Given the description of an element on the screen output the (x, y) to click on. 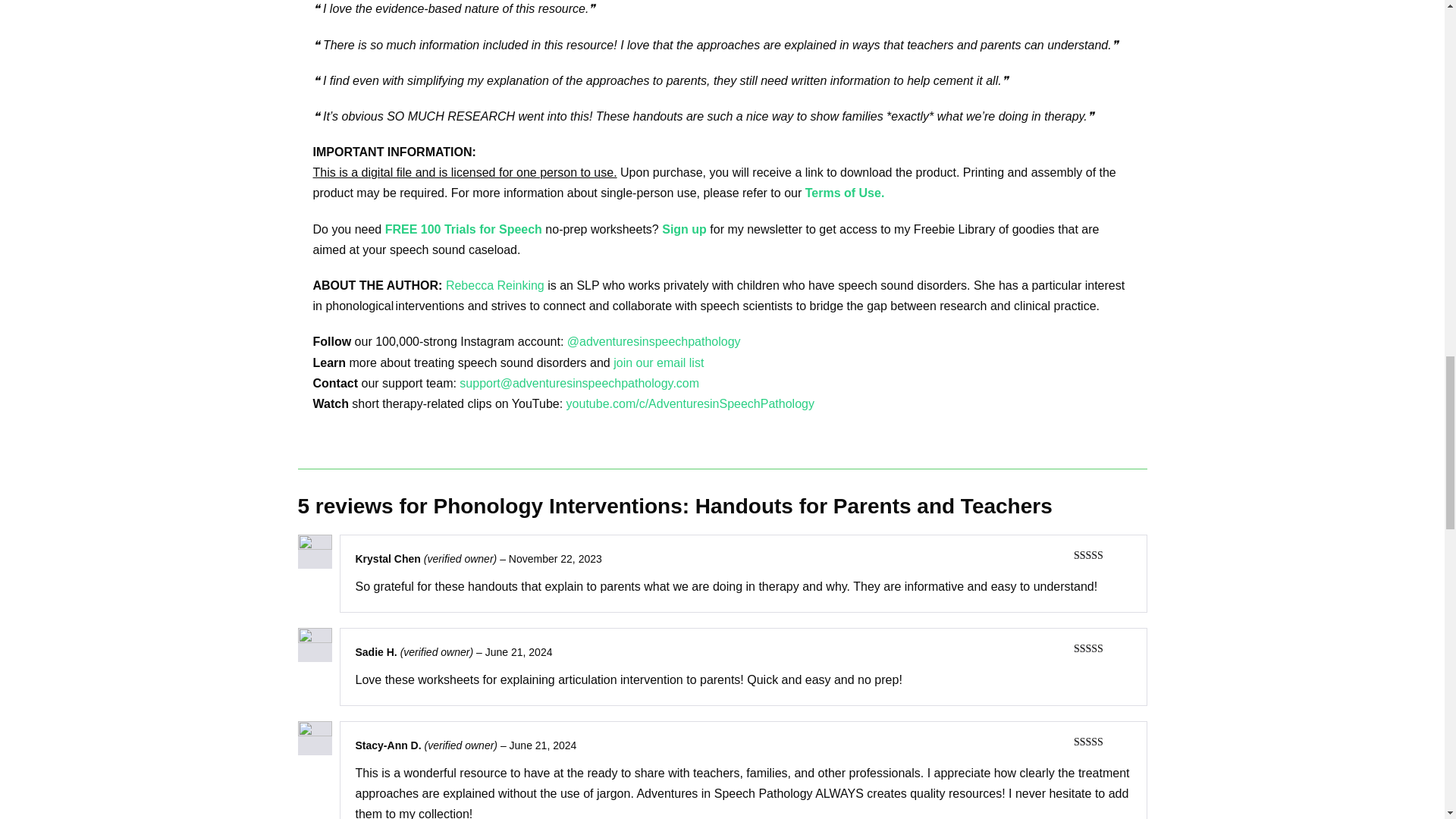
join our email list (657, 362)
FREE 100 Trials for Speech (463, 228)
Rebecca Reinking (494, 285)
Terms of Use. (845, 192)
Sign up (686, 228)
